Given the description of an element on the screen output the (x, y) to click on. 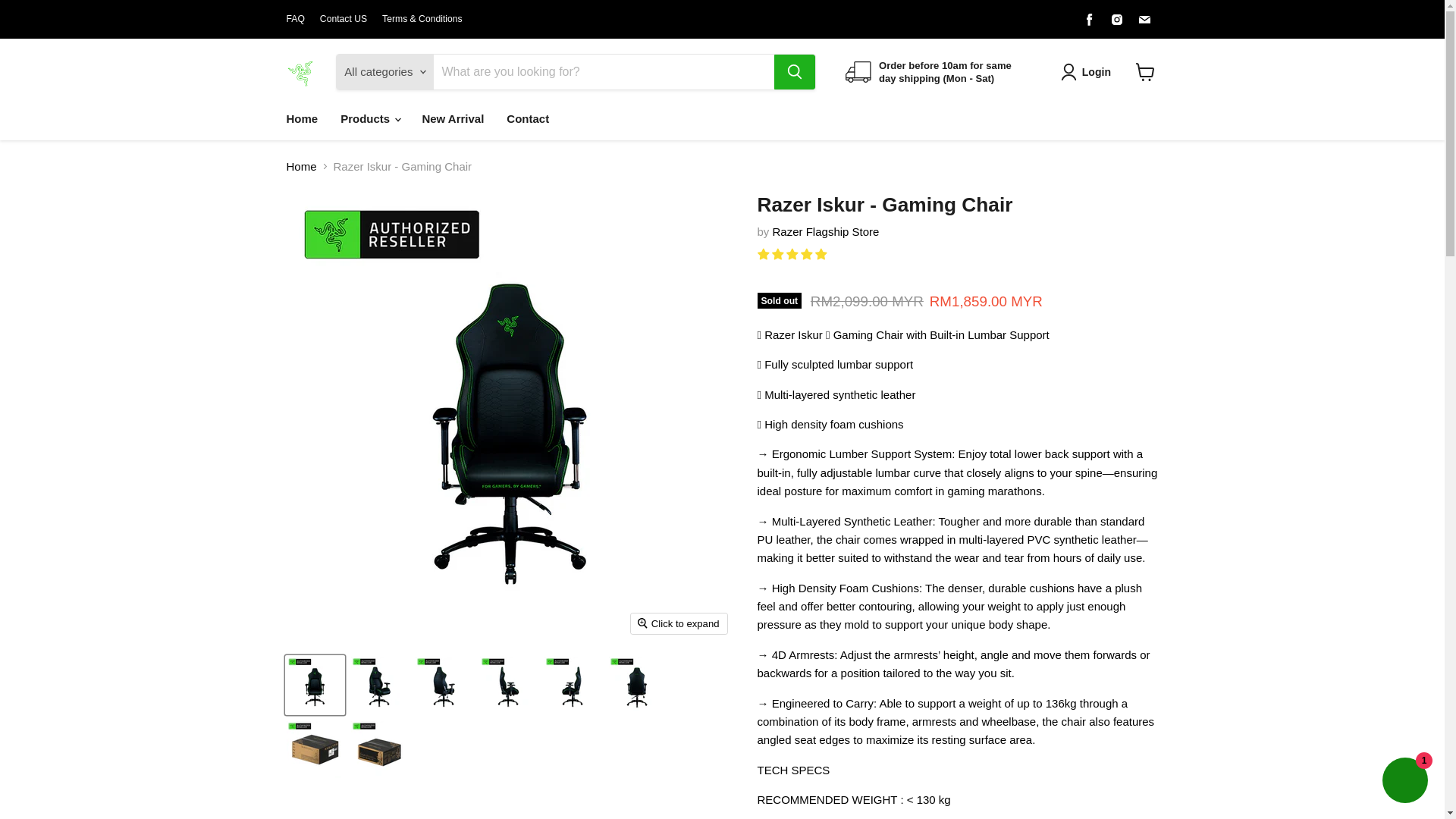
Facebook (1089, 19)
Home (302, 118)
Razer Flagship Store (826, 231)
View cart (1144, 71)
Contact US (343, 18)
Shopify online store chat (1404, 781)
Find us on Email (1144, 19)
Instagram (1116, 19)
Email (1144, 19)
Contact (527, 118)
Login (1095, 72)
Find us on Facebook (1089, 19)
New Arrival (452, 118)
Find us on Instagram (1116, 19)
FAQ (295, 18)
